Given the description of an element on the screen output the (x, y) to click on. 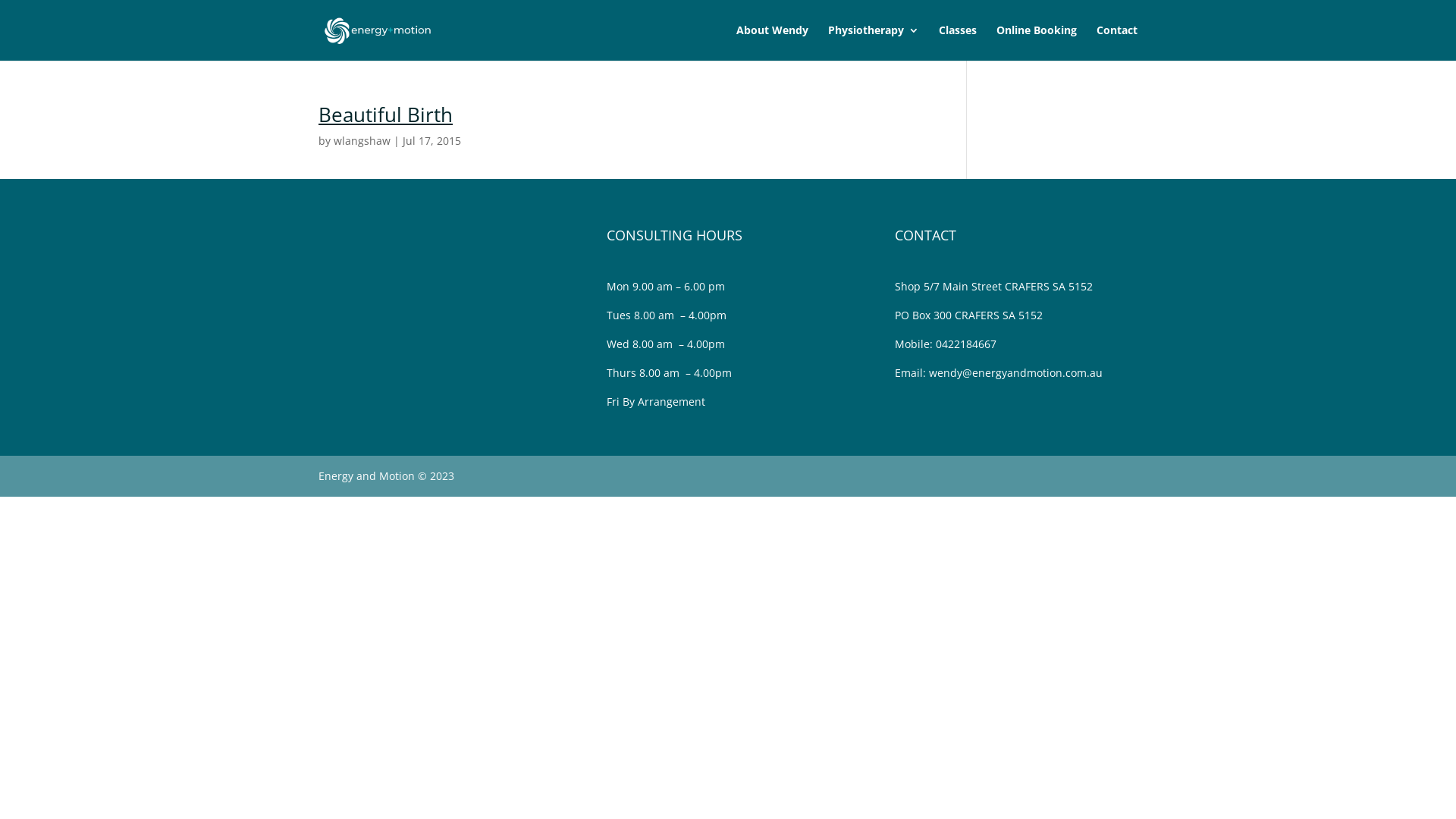
About Wendy Element type: text (772, 42)
wlangshaw Element type: text (361, 140)
Physiotherapy Element type: text (873, 42)
Beautiful Birth Element type: text (385, 114)
Classes Element type: text (957, 42)
Online Booking Element type: text (1036, 42)
Contact Element type: text (1116, 42)
